Given the description of an element on the screen output the (x, y) to click on. 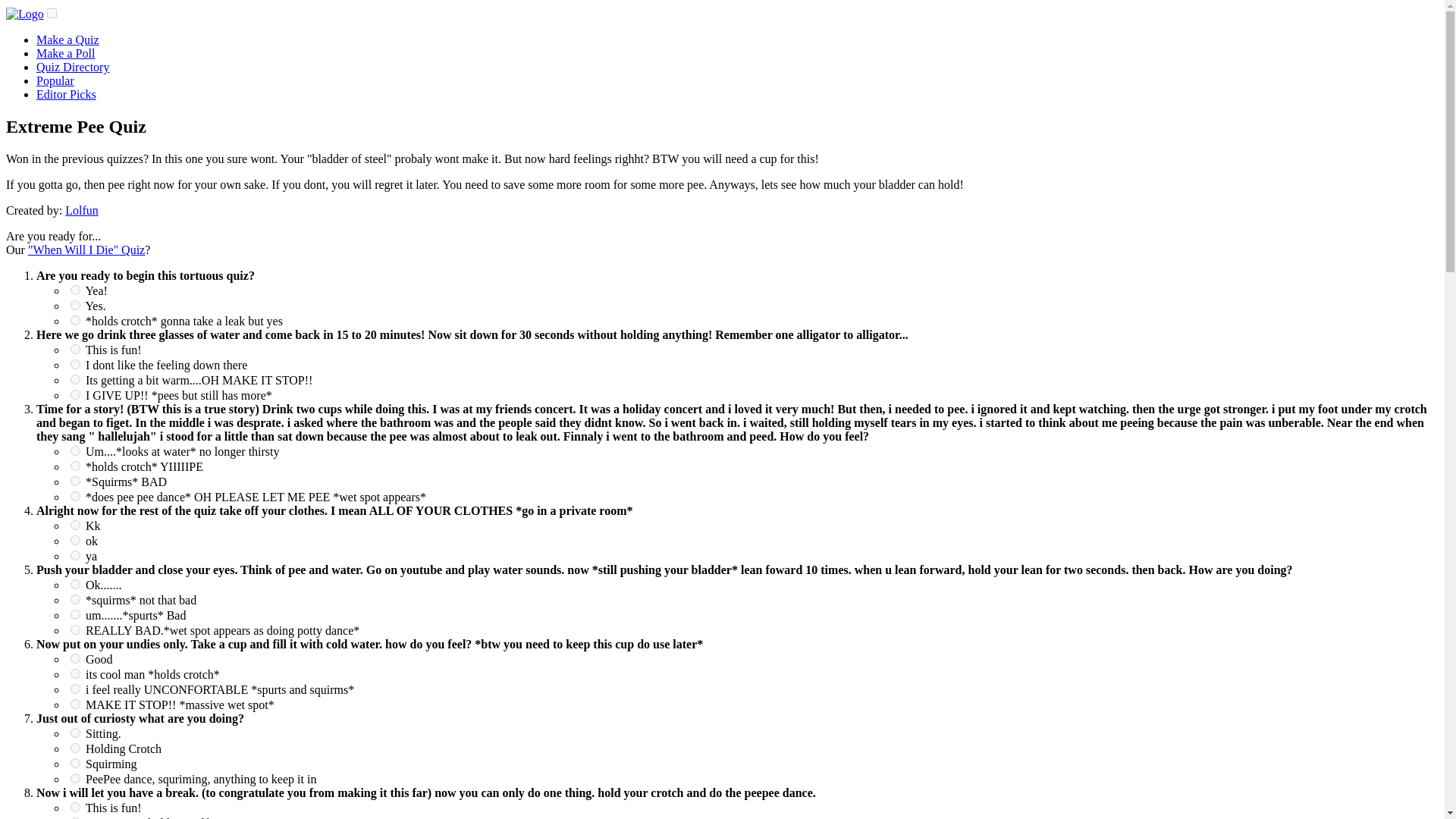
3 (74, 614)
2 (74, 465)
4 (74, 777)
2 (74, 599)
2 (74, 673)
3 (74, 763)
1 (74, 348)
3 (74, 480)
4 (74, 496)
1 (74, 583)
3 (74, 688)
1 (74, 289)
4 (74, 394)
4 (74, 629)
1 (74, 524)
